Given the description of an element on the screen output the (x, y) to click on. 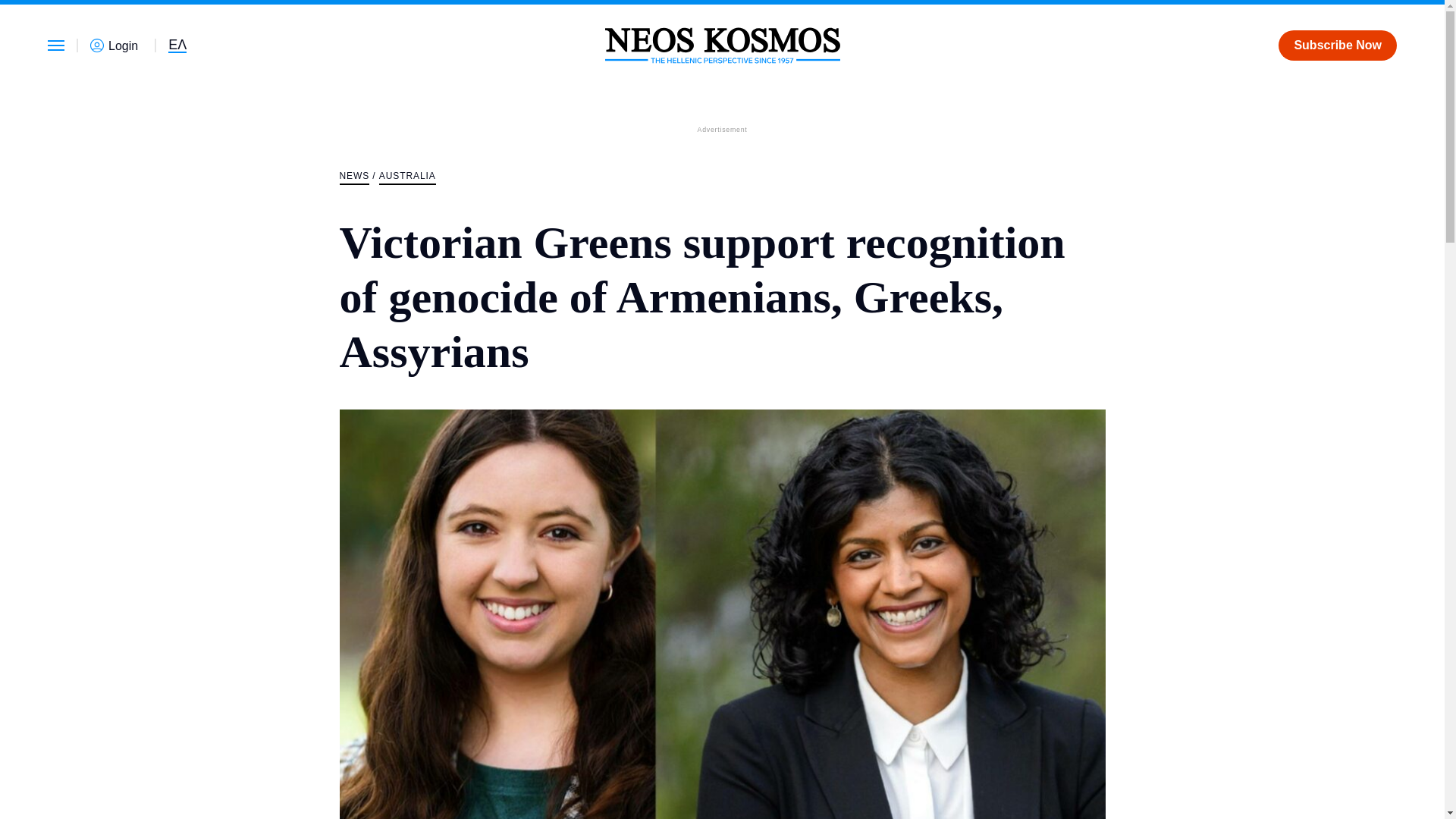
Login (116, 45)
Subscribe Now (1337, 45)
Main navigation (56, 45)
Subscribe Now (1337, 45)
